Given the description of an element on the screen output the (x, y) to click on. 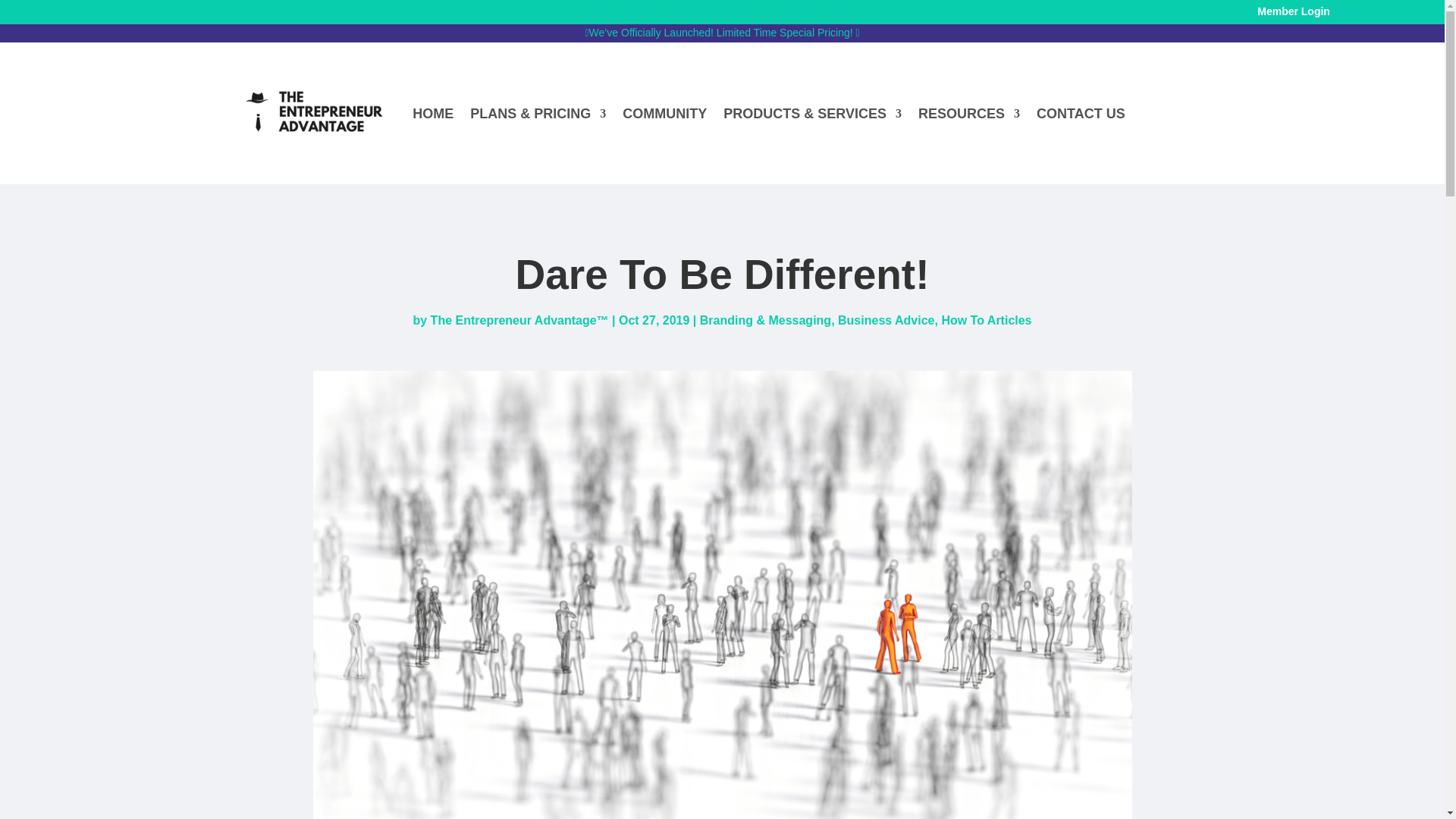
HOME (432, 113)
Member Login (1293, 10)
CONTACT US (1080, 113)
Business Advice (886, 319)
How To Articles (985, 319)
RESOURCES (969, 113)
COMMUNITY (664, 113)
